Given the description of an element on the screen output the (x, y) to click on. 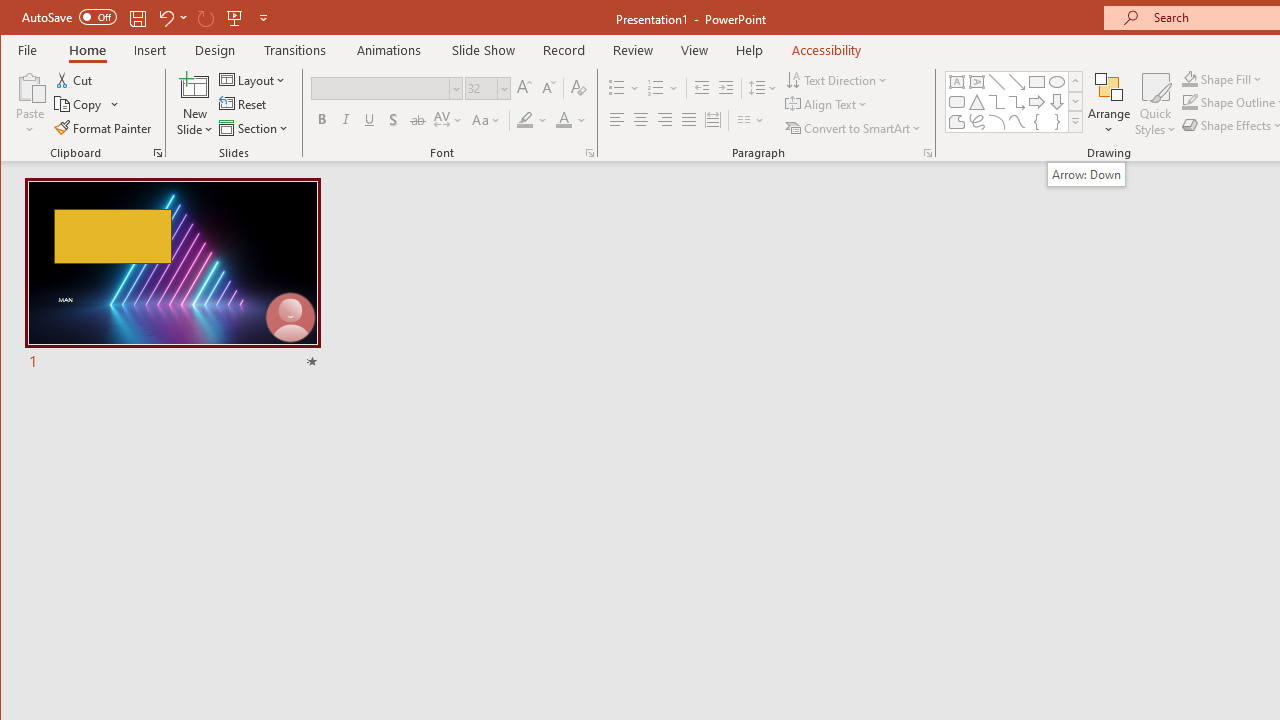
Shape Outline Blue, Accent 1 (1189, 101)
Shape Fill Orange, Accent 2 (1189, 78)
Bold (321, 119)
Decrease Font Size (548, 88)
